Given the description of an element on the screen output the (x, y) to click on. 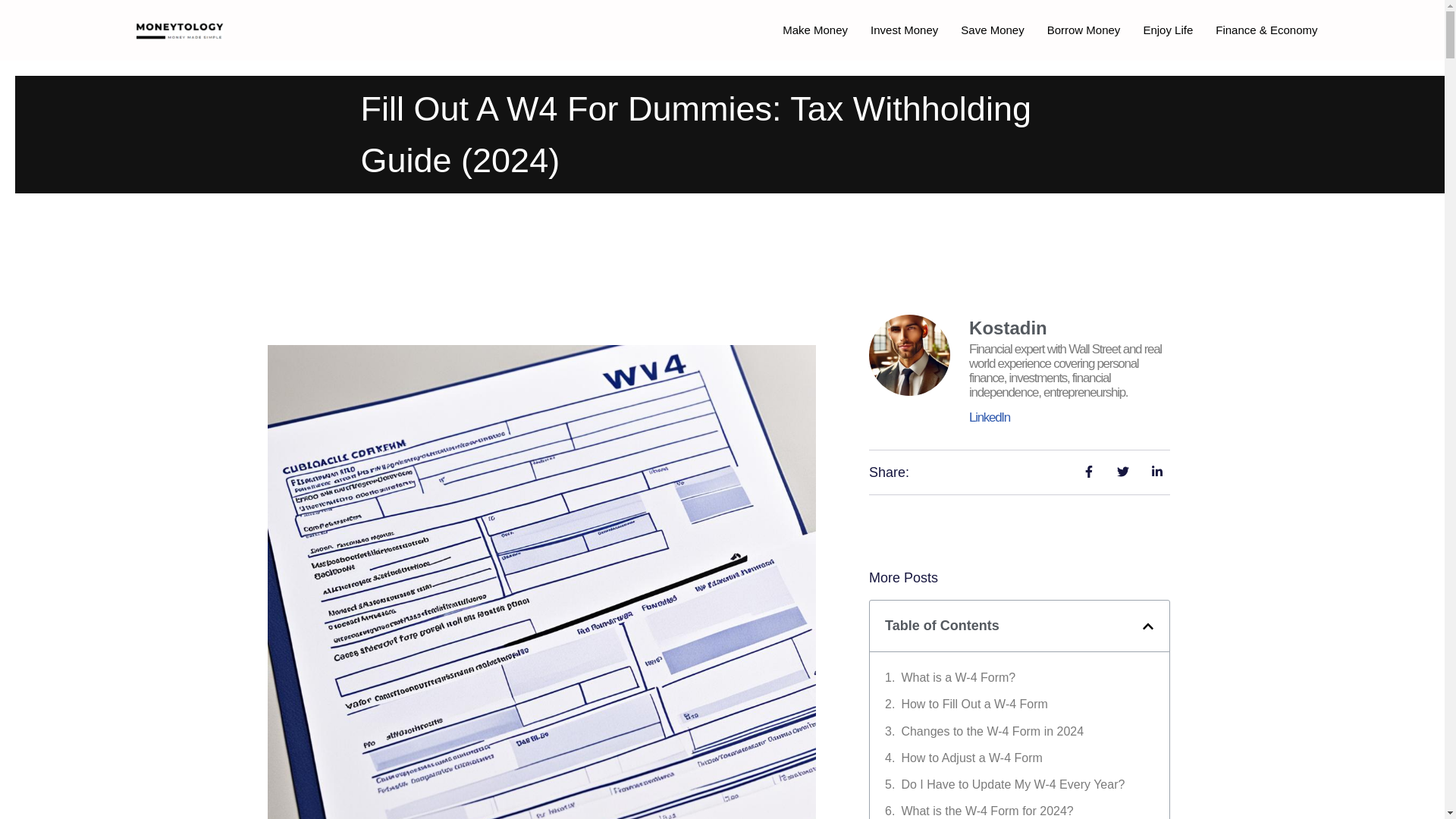
Changes to the W-4 Form in 2024 (992, 731)
Save Money (992, 30)
Enjoy Life (1167, 30)
What is the W-4 Form for 2024? (987, 809)
LinkedIn (989, 417)
Make Money (815, 30)
What is a W-4 Form? (957, 677)
How to Adjust a W-4 Form (971, 757)
Do I Have to Update My W-4 Every Year? (1012, 783)
How to Fill Out a W-4 Form (974, 703)
Borrow Money (1083, 30)
Kostadin (1069, 328)
Invest Money (904, 30)
